Given the description of an element on the screen output the (x, y) to click on. 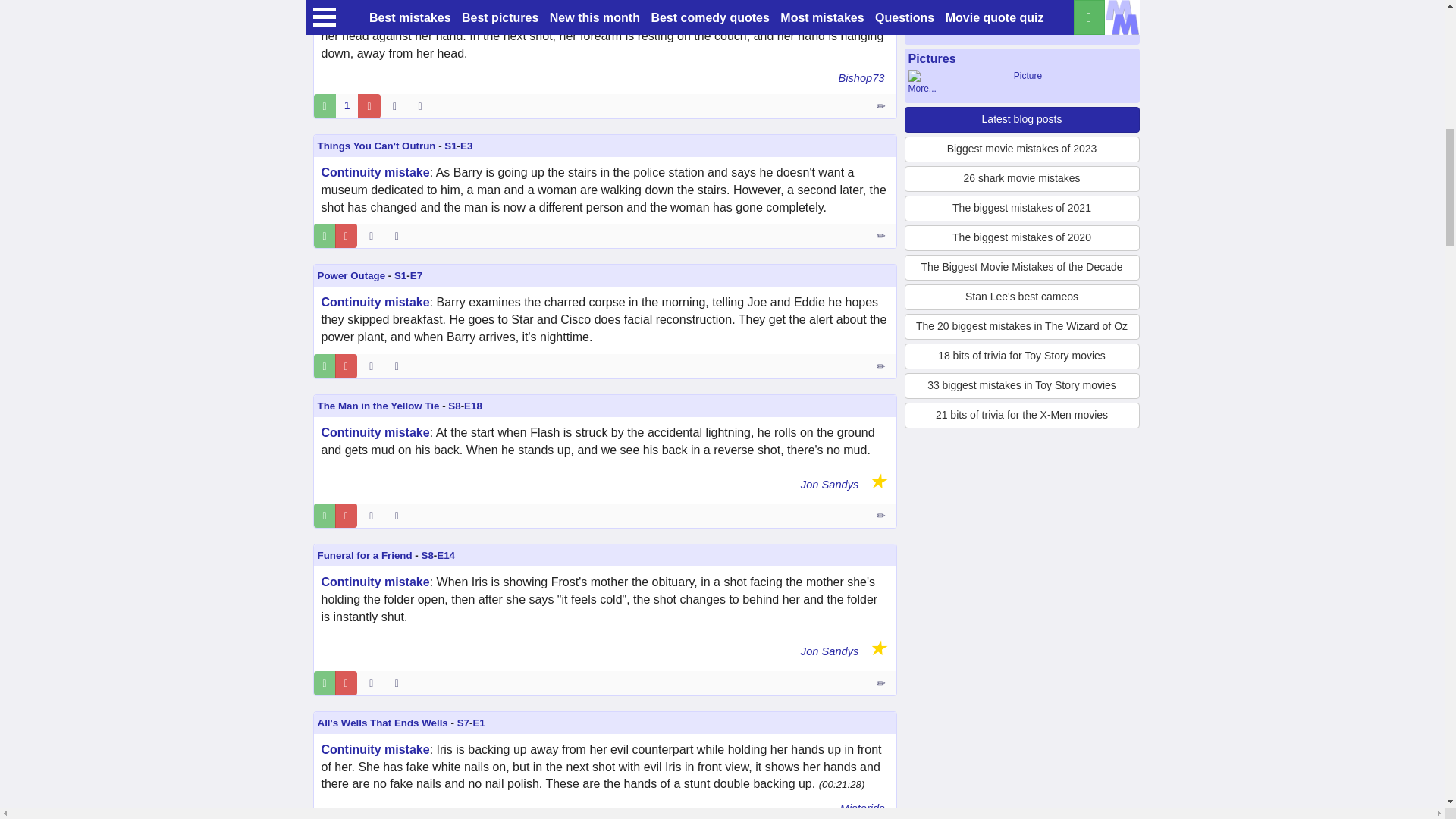
I dislike this (345, 235)
I dislike this (369, 105)
I like this (325, 235)
Entry 235560 (881, 105)
I like this (325, 105)
Share this entry (423, 105)
ID 235560: 7th November 2017 (395, 105)
